Given the description of an element on the screen output the (x, y) to click on. 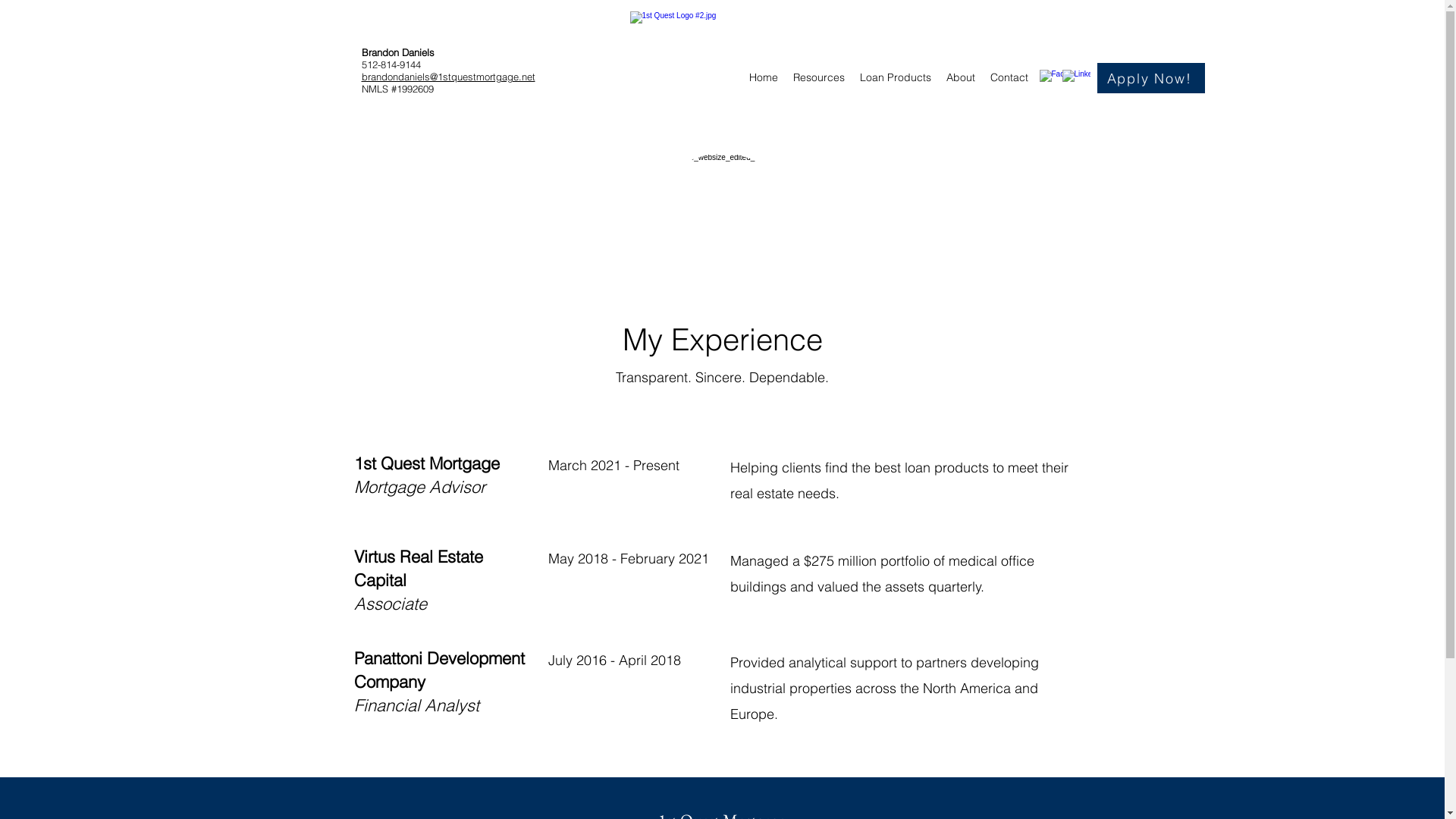
Contact Element type: text (1008, 77)
Loan Products Element type: text (895, 77)
Apply Now! Element type: text (1150, 77)
Home Element type: text (763, 77)
brandondaniels@1stquestmortgage.net Element type: text (447, 76)
